Given the description of an element on the screen output the (x, y) to click on. 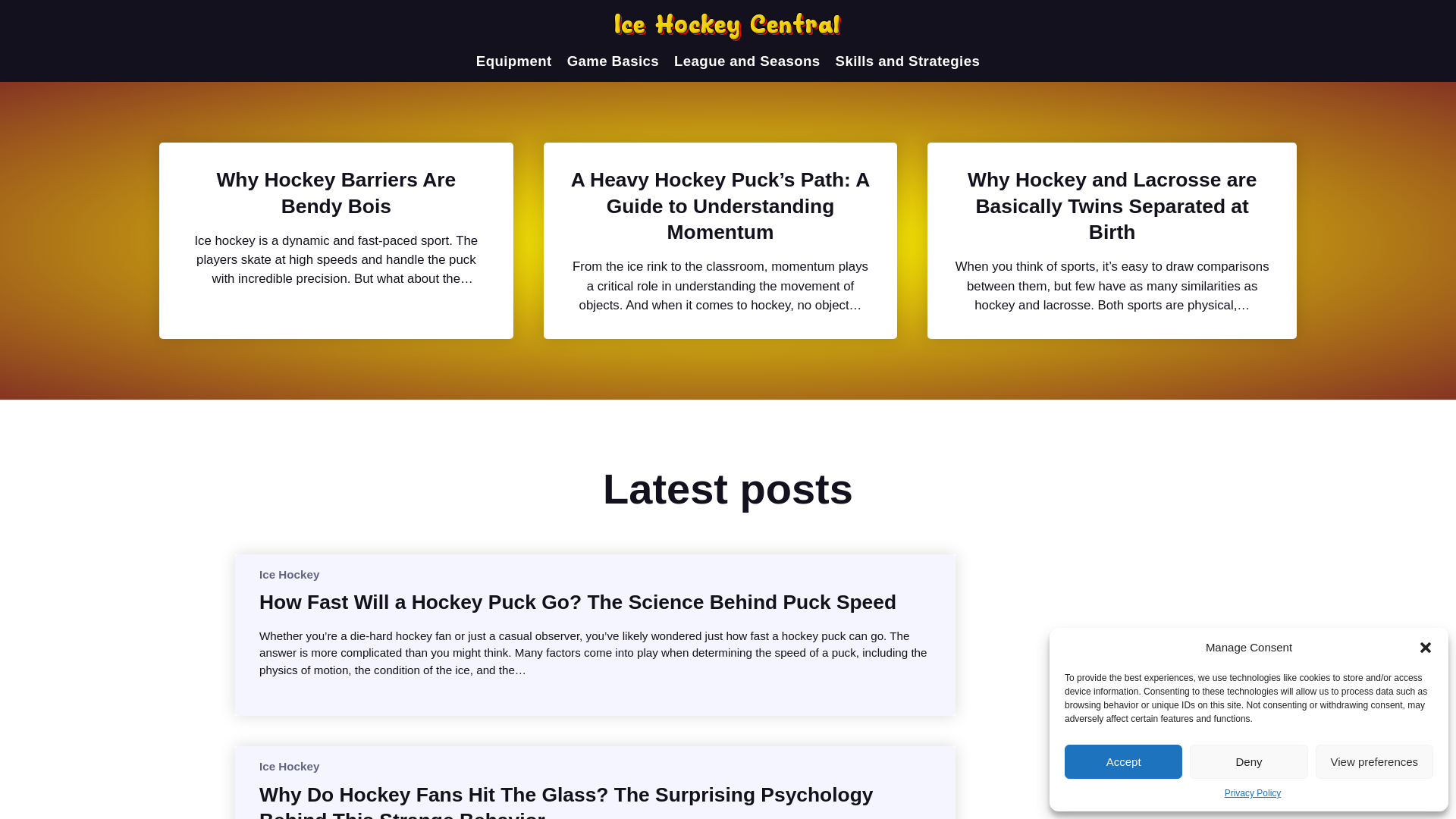
Accept (1123, 761)
Deny (1248, 761)
Equipment (513, 61)
Ice Hockey (288, 766)
View preferences (1374, 761)
League and Seasons (746, 61)
Why Hockey Barriers Are Bendy Bois (336, 193)
Ice Hockey (288, 573)
Privacy Policy (1252, 793)
Game Basics (613, 61)
Skills and Strategies (907, 61)
